Given the description of an element on the screen output the (x, y) to click on. 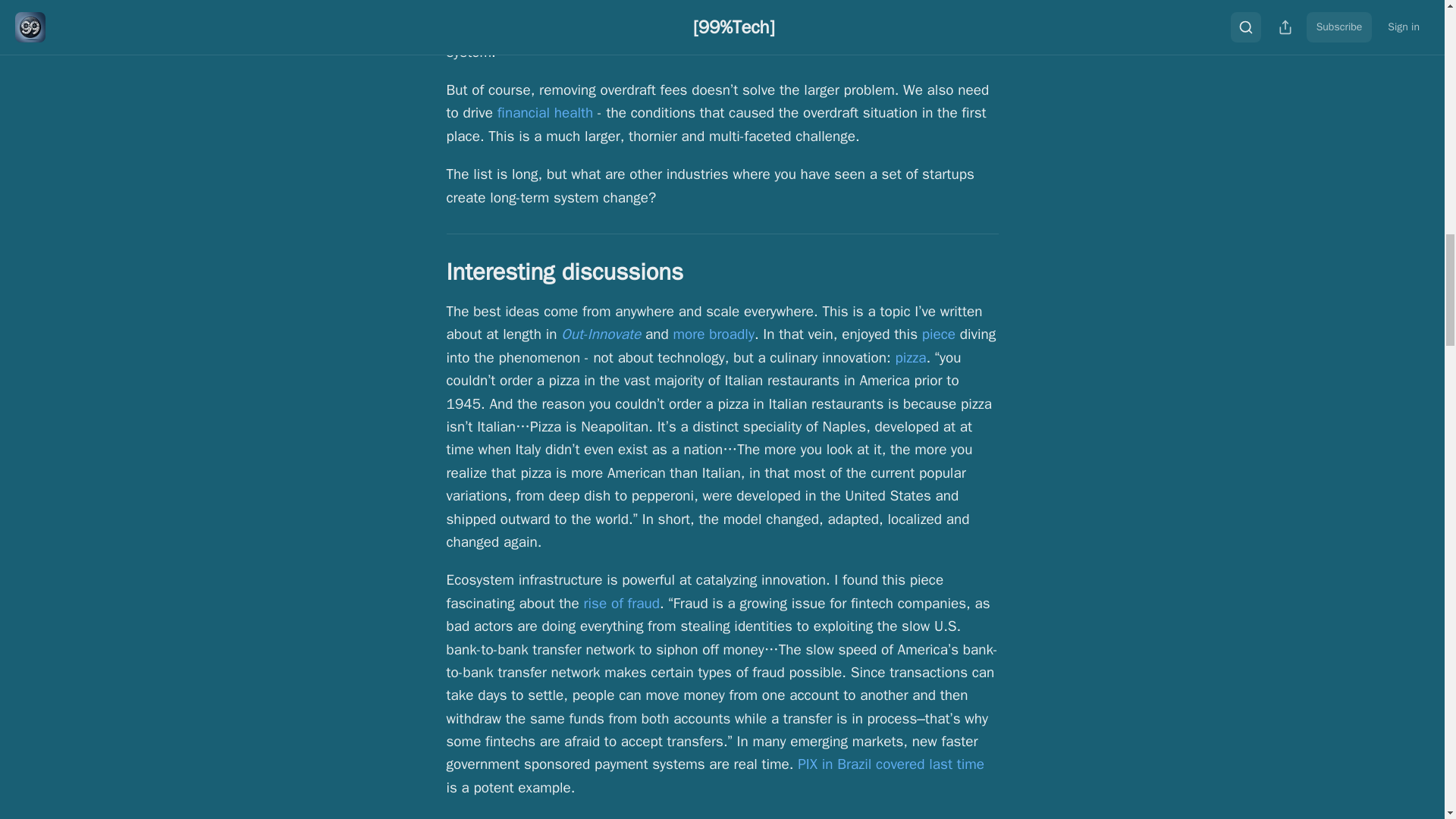
financial health (545, 113)
more broadly (713, 334)
pizza (910, 357)
rise of fraud (621, 603)
Out-Innovate (600, 334)
PIX in Brazil covered last time (890, 764)
piece (938, 334)
